Given the description of an element on the screen output the (x, y) to click on. 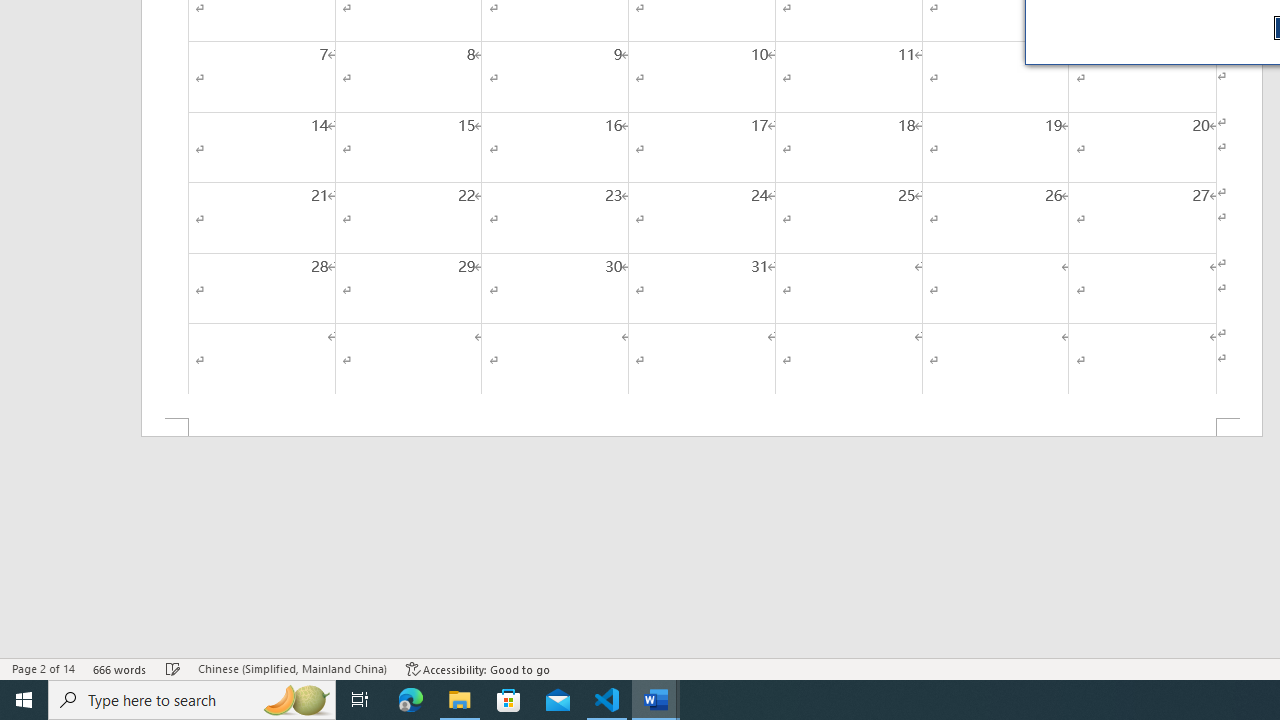
Task View (359, 699)
Start (24, 699)
Word Count 666 words (119, 668)
Microsoft Edge (411, 699)
Word - 2 running windows (656, 699)
File Explorer - 1 running window (460, 699)
Footer -Section 1- (701, 427)
Visual Studio Code - 1 running window (607, 699)
Microsoft Store (509, 699)
Search highlights icon opens search home window (295, 699)
Type here to search (191, 699)
Spelling and Grammar Check Checking (173, 668)
